Given the description of an element on the screen output the (x, y) to click on. 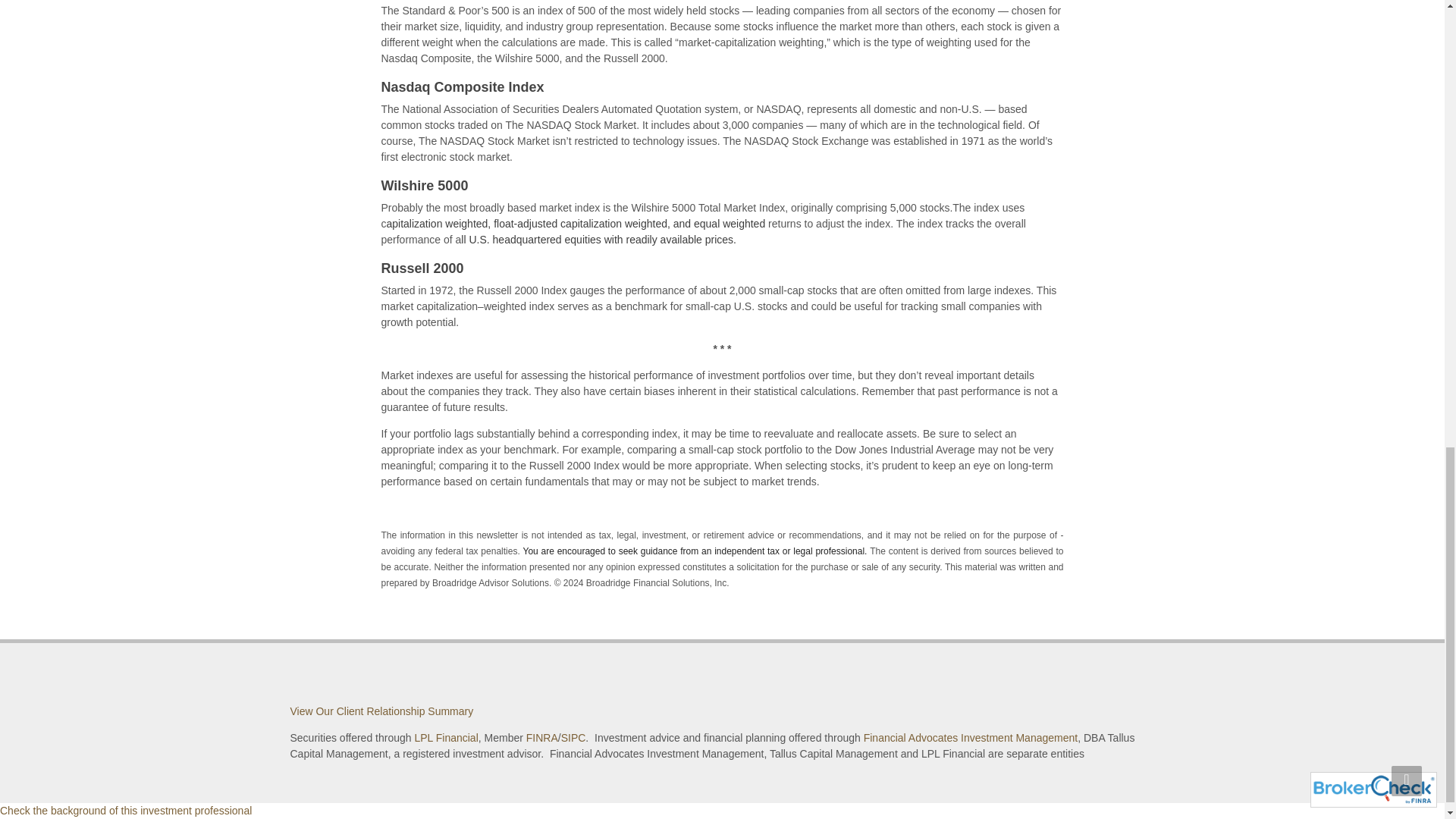
View Our Client Relationship Summary (381, 711)
LPL Financial (445, 737)
Check the background of this investment professional (125, 810)
SIPC (573, 737)
Financial Advocates Investment Management (970, 737)
FINRA (541, 737)
